Given the description of an element on the screen output the (x, y) to click on. 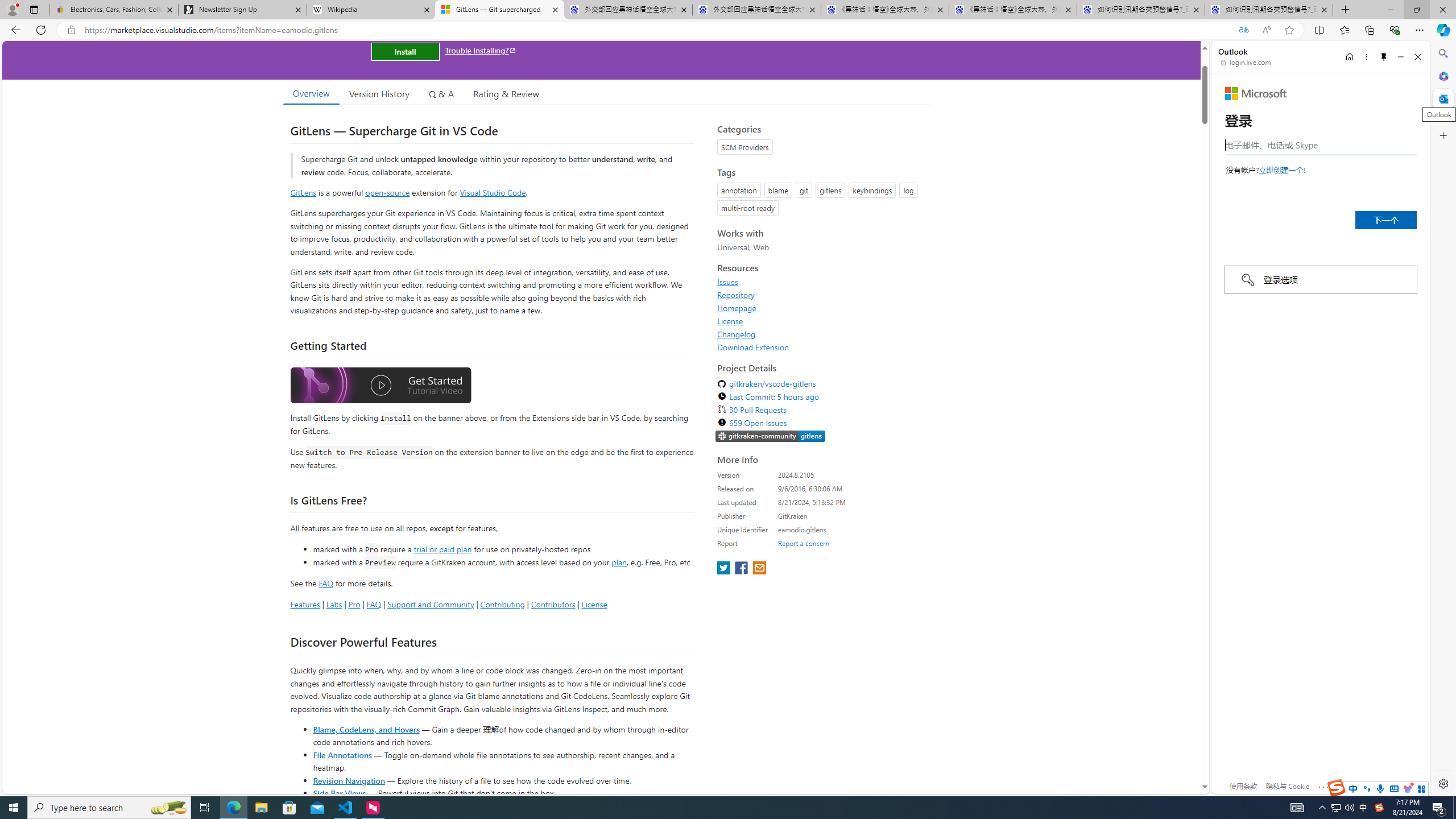
Translated (1243, 29)
